Given the description of an element on the screen output the (x, y) to click on. 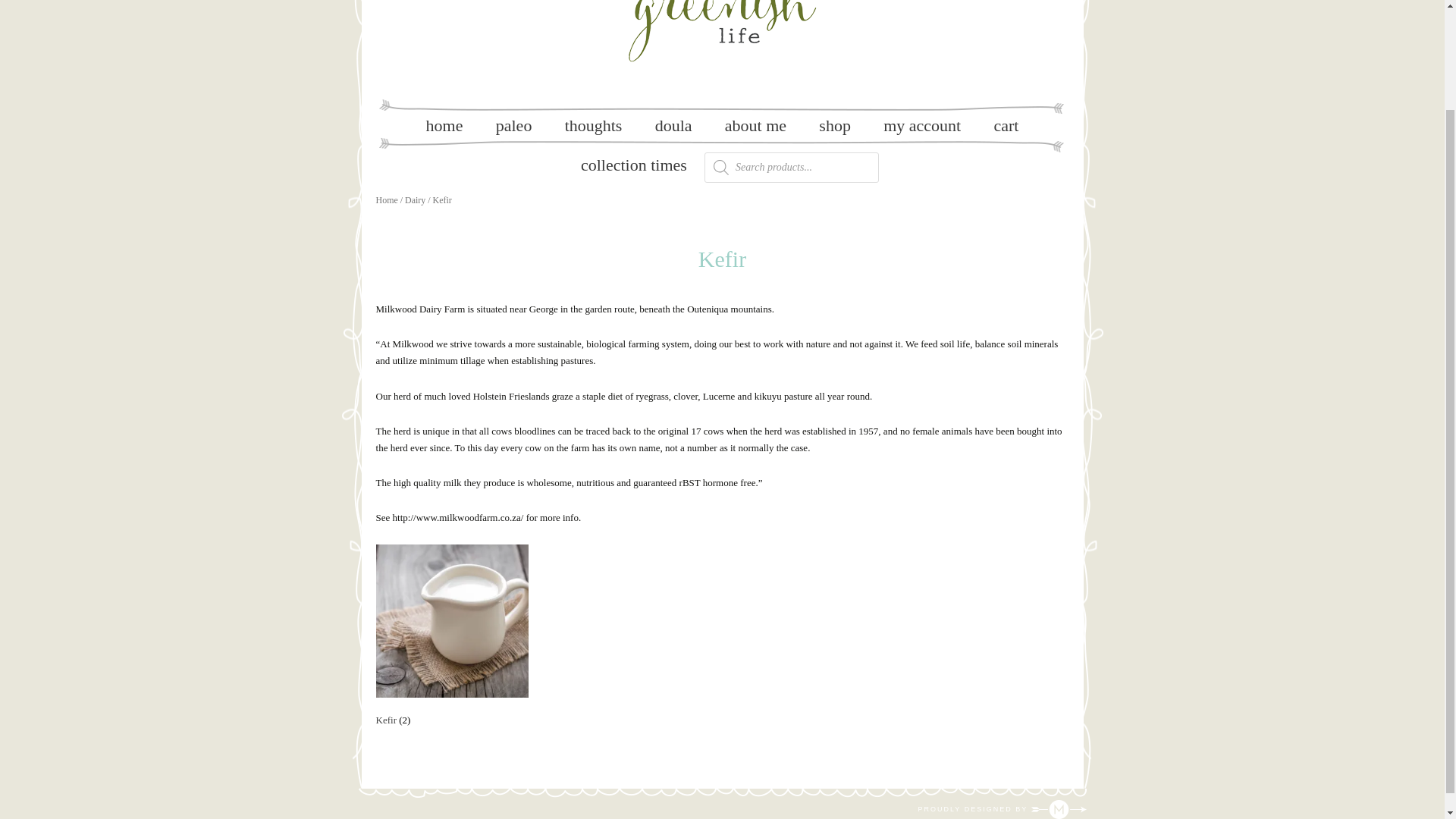
collection times (633, 165)
Mlekoshi playground web designs (1001, 809)
home (444, 125)
shop (834, 125)
my account (921, 125)
Dairy (414, 199)
paleo (513, 125)
thoughts (593, 125)
about me (756, 125)
cart (1005, 125)
